Given the description of an element on the screen output the (x, y) to click on. 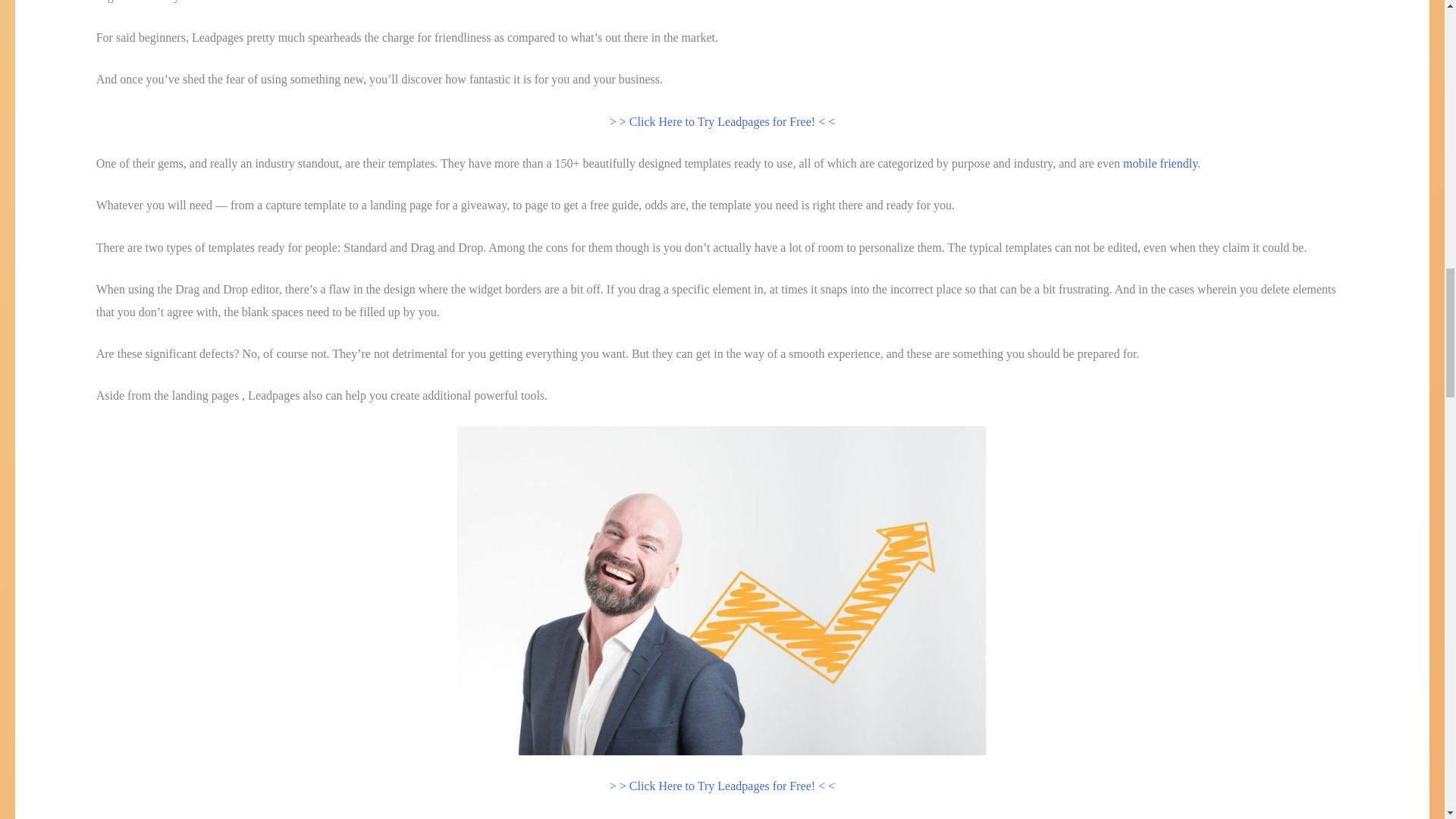
mobile friendly (1159, 163)
